Given the description of an element on the screen output the (x, y) to click on. 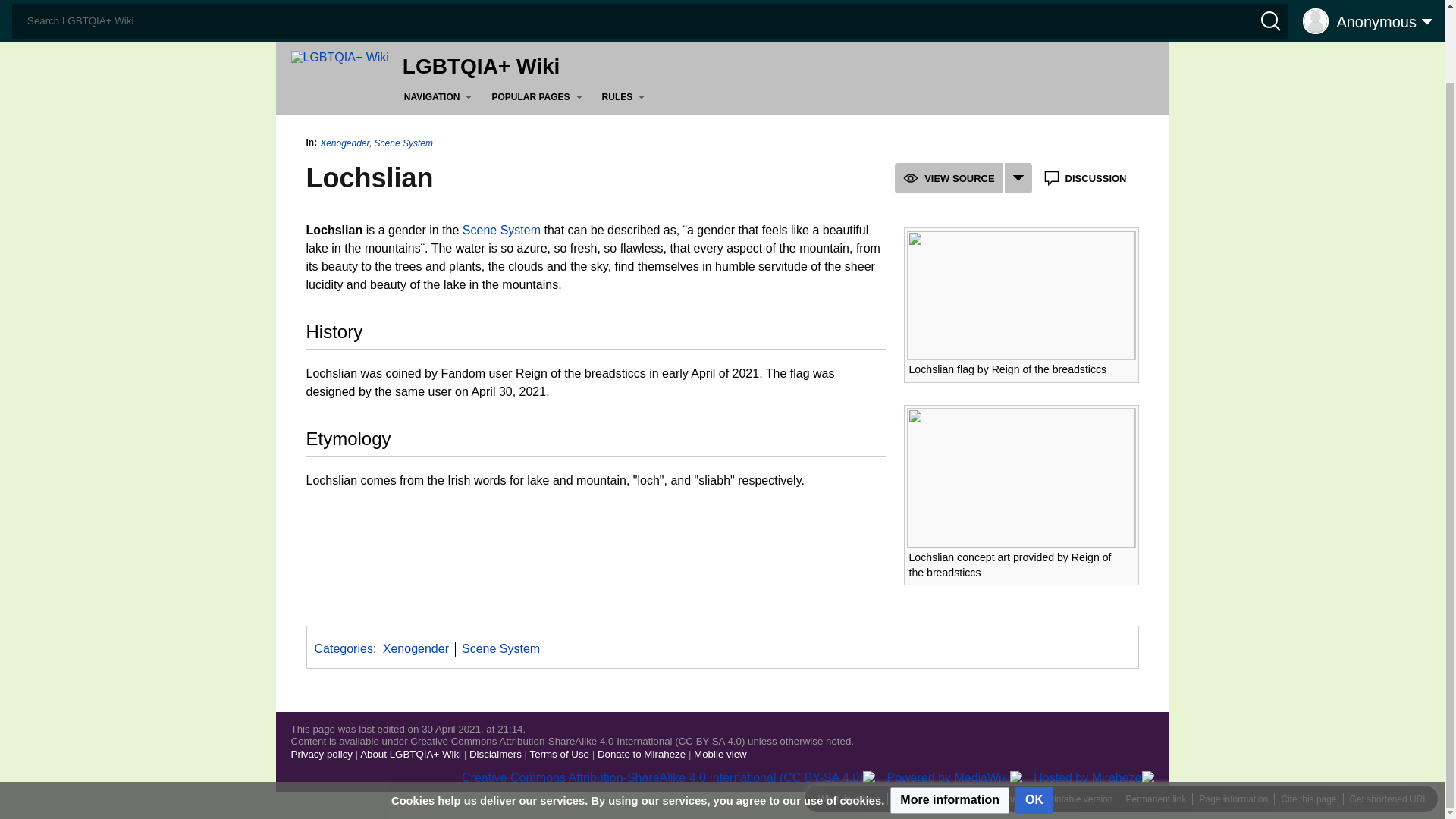
RULES (626, 96)
Scene System (501, 229)
NAVIGATION (441, 96)
Category:Scene System (500, 648)
Visit the main page (339, 56)
Category:Xenogender (415, 648)
Special:Categories (343, 648)
POPULAR PAGES (540, 96)
